Given the description of an element on the screen output the (x, y) to click on. 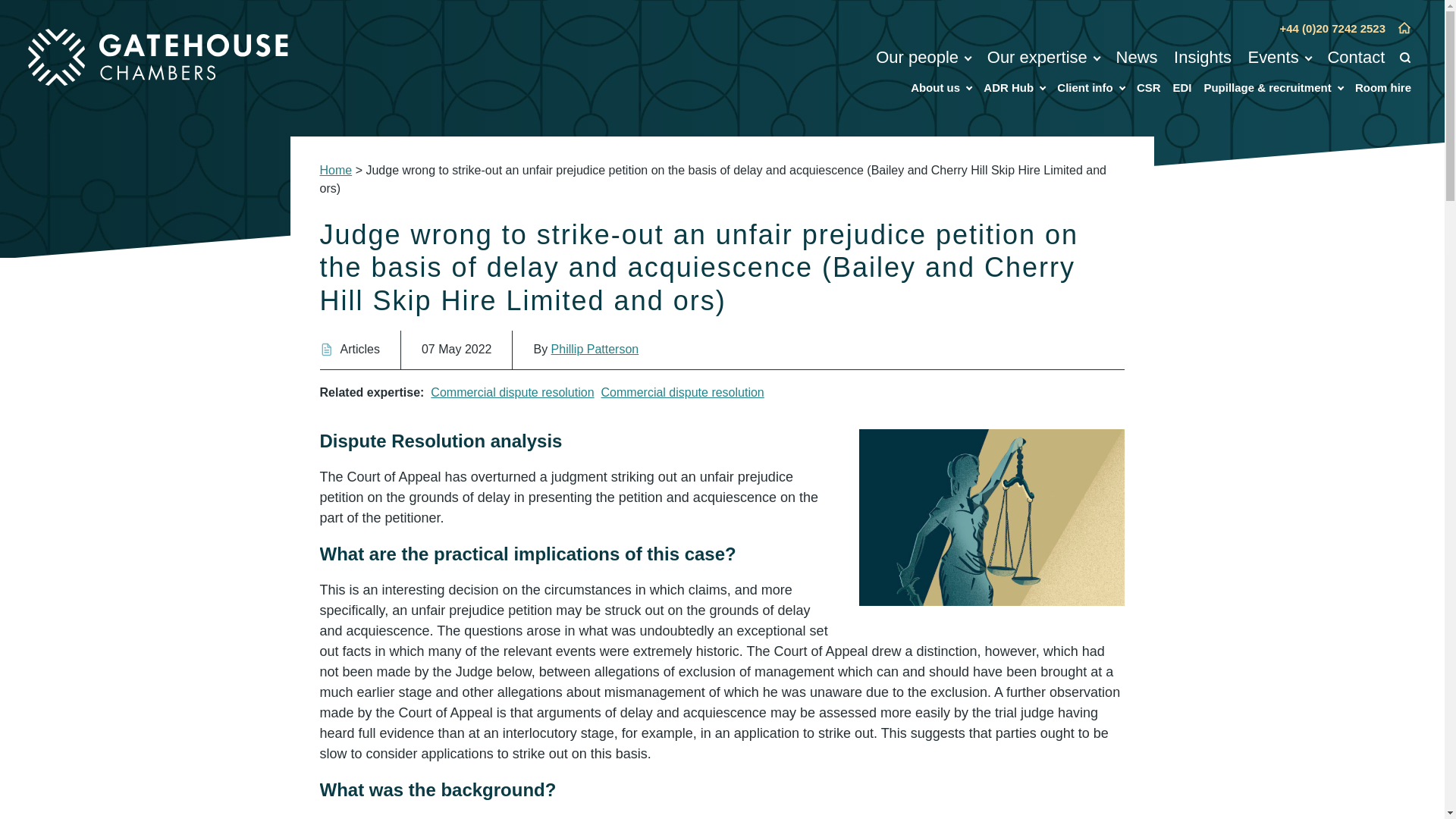
Phillip Patterson (595, 349)
Go to Gatehouse Chambers. (336, 169)
Commercial dispute resolution (512, 393)
Search (1404, 58)
Commercial dispute resolution (682, 393)
Gatehouse Chambers (157, 57)
